Given the description of an element on the screen output the (x, y) to click on. 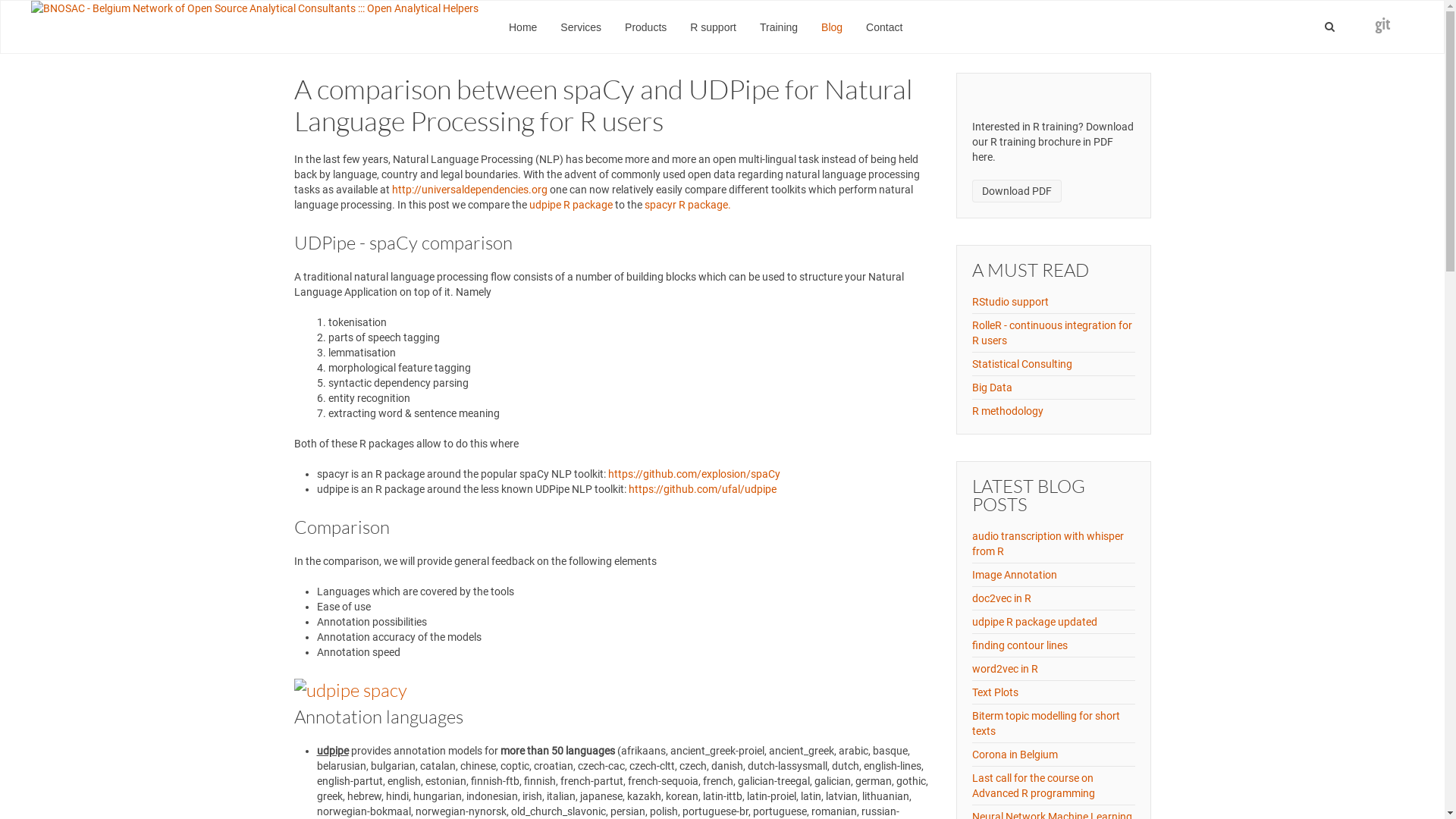
Products Element type: text (645, 26)
Statistical Consulting Element type: text (1022, 363)
spacyr R package. Element type: text (687, 204)
Last call for the course on Advanced R programming Element type: text (1033, 785)
R methodology Element type: text (1007, 410)
Services Element type: text (580, 26)
R support Element type: text (712, 26)
https://github.com/explosion/spaCy Element type: text (694, 473)
Text Plots Element type: text (995, 692)
Biterm topic modelling for short texts Element type: text (1046, 723)
https://github.com/ufal/udpipe Element type: text (701, 489)
RStudio support Element type: text (1010, 301)
audio transcription with whisper from R Element type: text (1047, 543)
udpipe R package Element type: text (570, 204)
Download PDF Element type: text (1016, 190)
Blog Element type: text (831, 26)
doc2vec in R Element type: text (1001, 598)
Home Element type: text (522, 26)
Big Data Element type: text (992, 387)
Contact Element type: text (883, 26)
word2vec in R Element type: text (1005, 668)
Training Element type: text (778, 26)
finding contour lines Element type: text (1019, 645)
Corona in Belgium Element type: text (1014, 754)
Image Annotation Element type: text (1014, 574)
http://universaldependencies.org Element type: text (468, 189)
udpipe R package updated Element type: text (1034, 621)
RolleR - continuous integration for R users Element type: text (1052, 332)
